Given the description of an element on the screen output the (x, y) to click on. 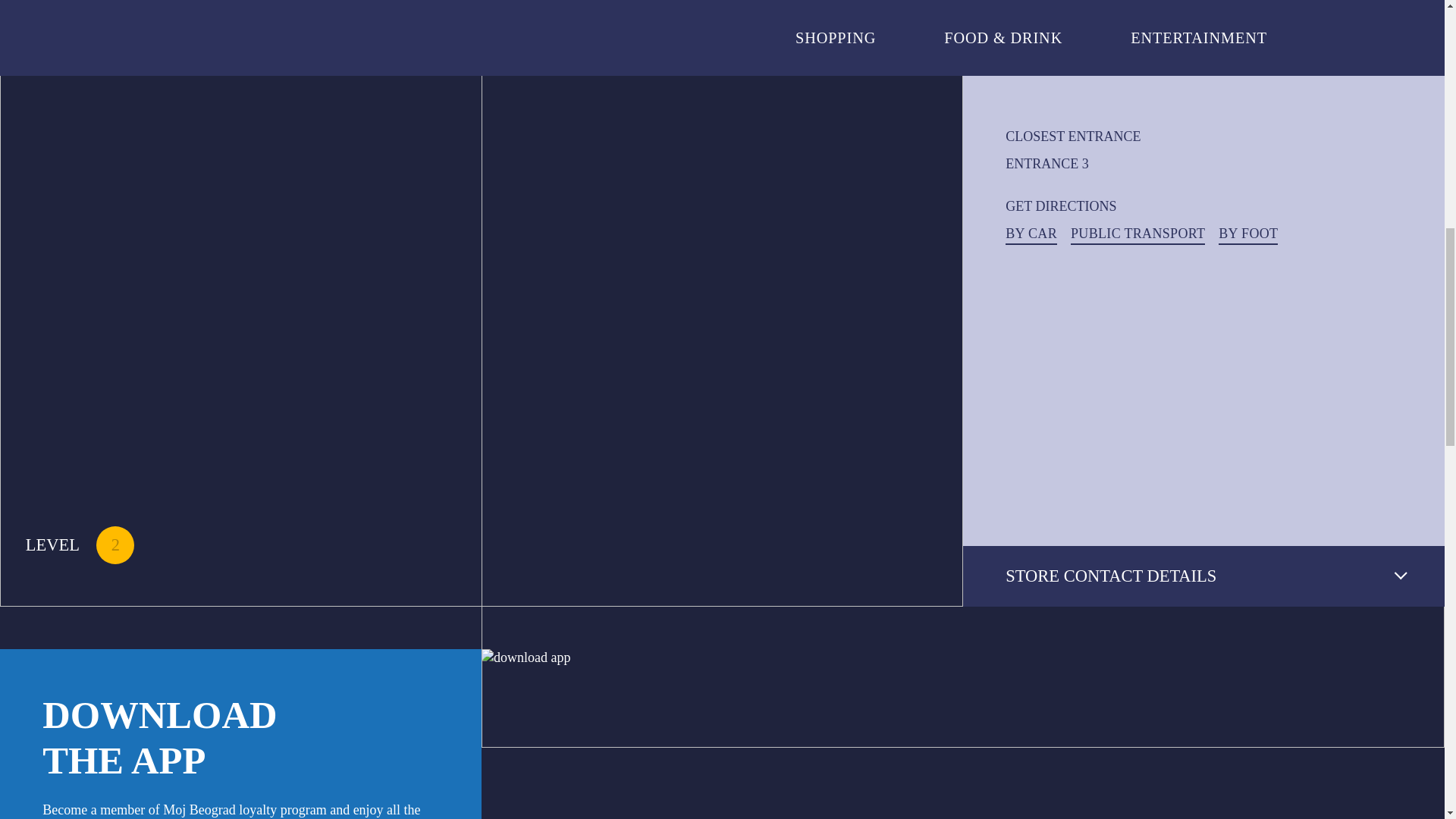
2 (114, 545)
PUBLIC TRANSPORT (1137, 234)
BY FOOT (1248, 234)
BY CAR (1031, 234)
